Given the description of an element on the screen output the (x, y) to click on. 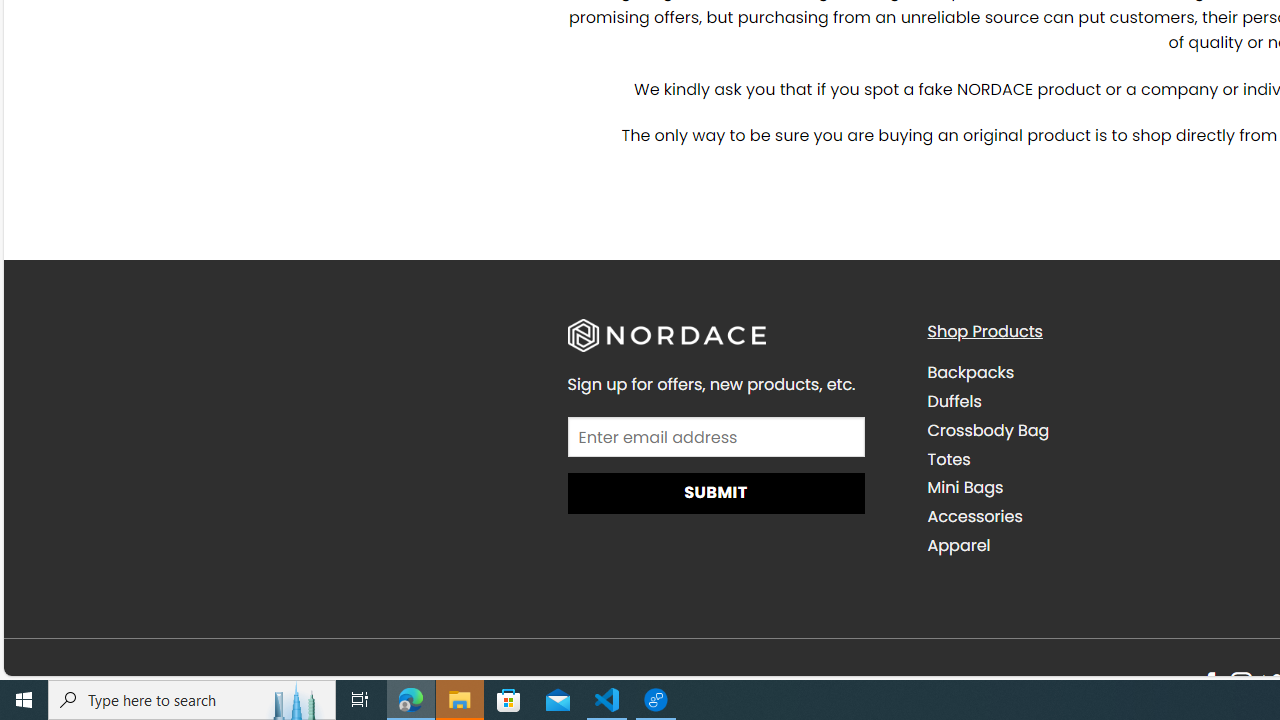
Submit (716, 493)
Mini Bags (964, 487)
Accessories (1092, 516)
Accessories (974, 516)
Follow on Facebook (1210, 683)
Follow on Instagram (1241, 683)
Duffels (1092, 401)
Apparel (1092, 545)
Totes (948, 458)
Backpacks (970, 372)
Apparel (958, 544)
Mini Bags (1092, 488)
Totes (1092, 459)
Crossbody Bag (1092, 430)
Backpacks (1092, 372)
